Given the description of an element on the screen output the (x, y) to click on. 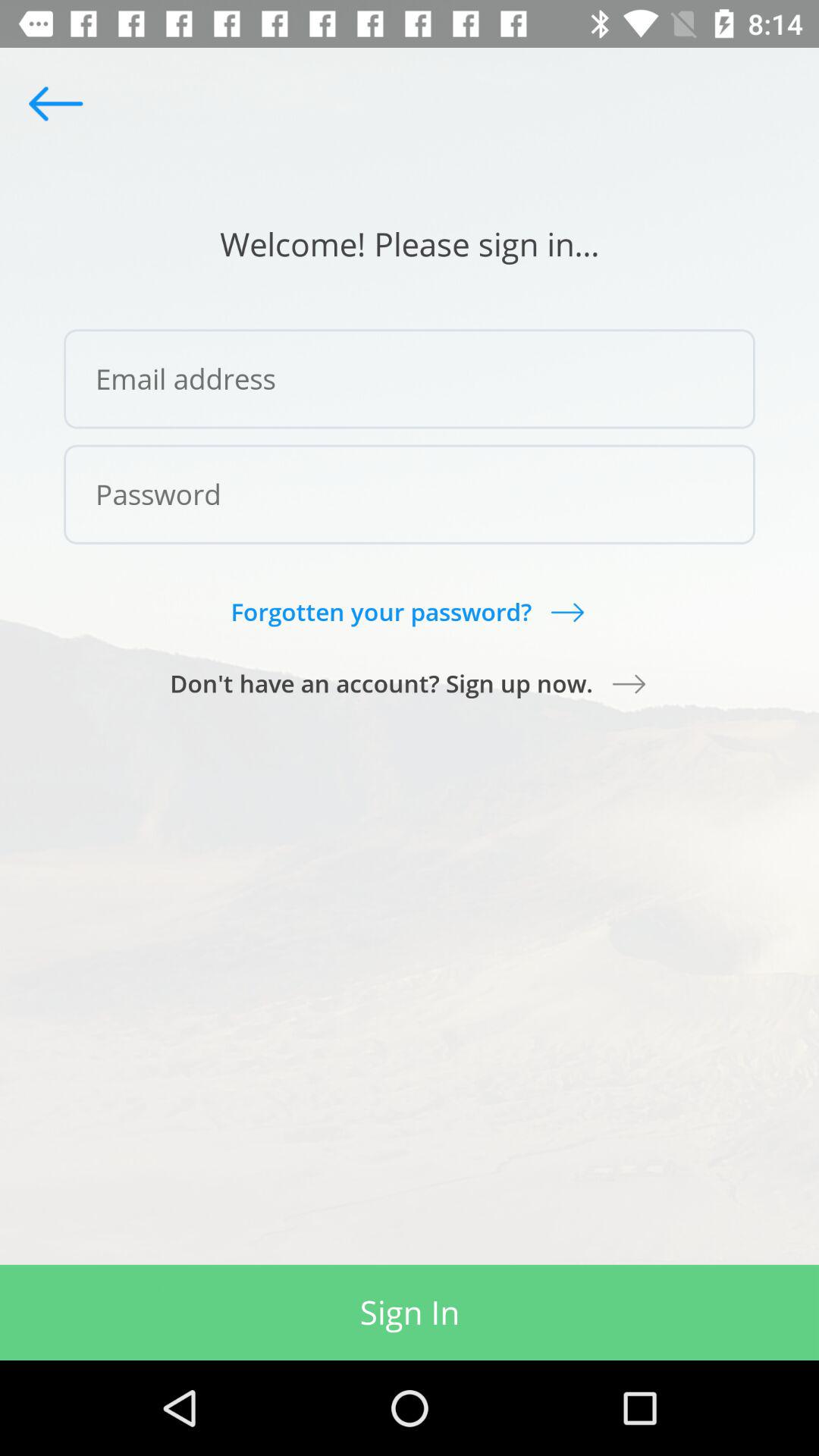
launch the item above the sign in item (409, 683)
